Given the description of an element on the screen output the (x, y) to click on. 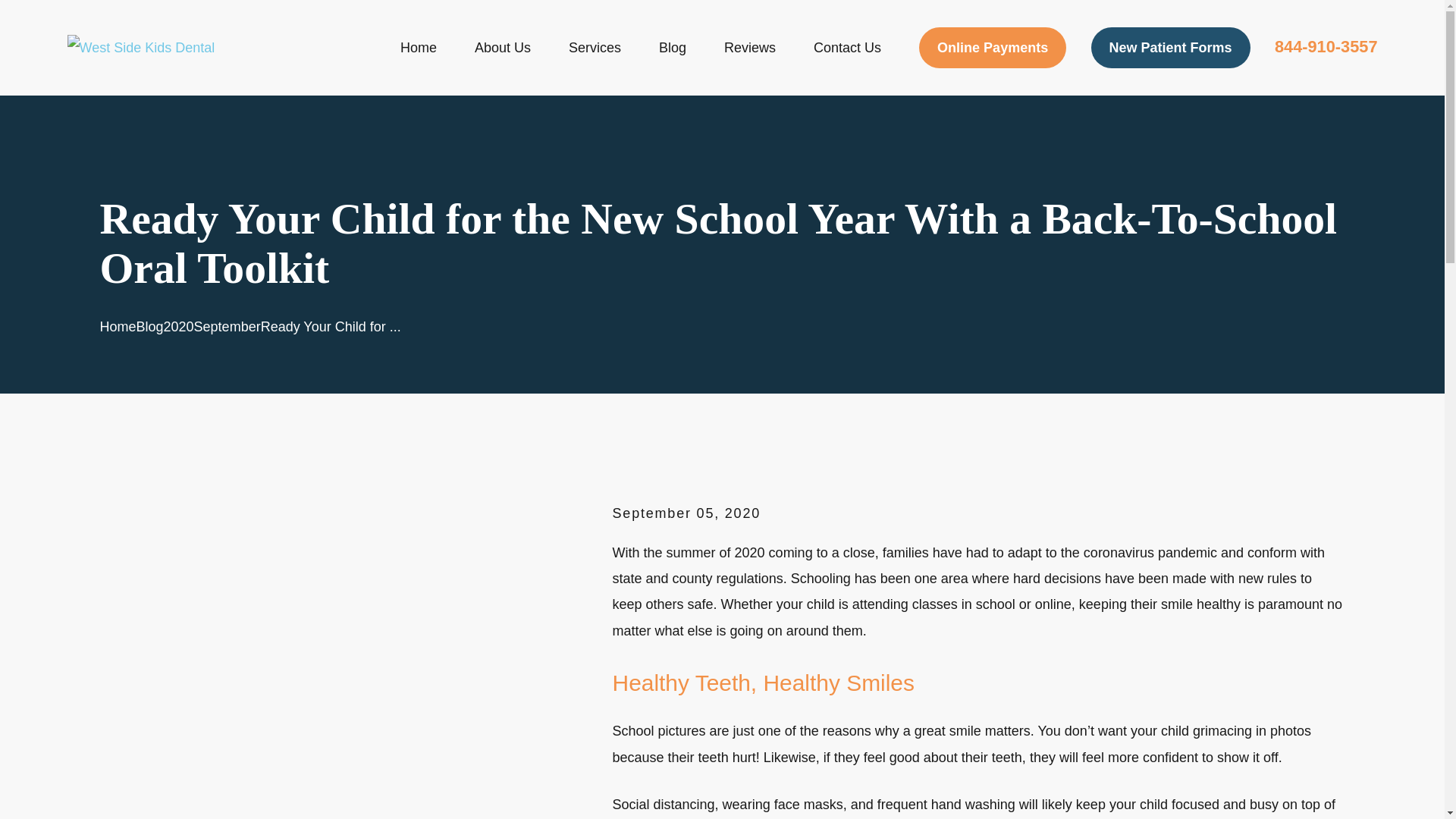
Services (595, 47)
About Us (502, 47)
Home (140, 47)
Go Home (118, 326)
